Given the description of an element on the screen output the (x, y) to click on. 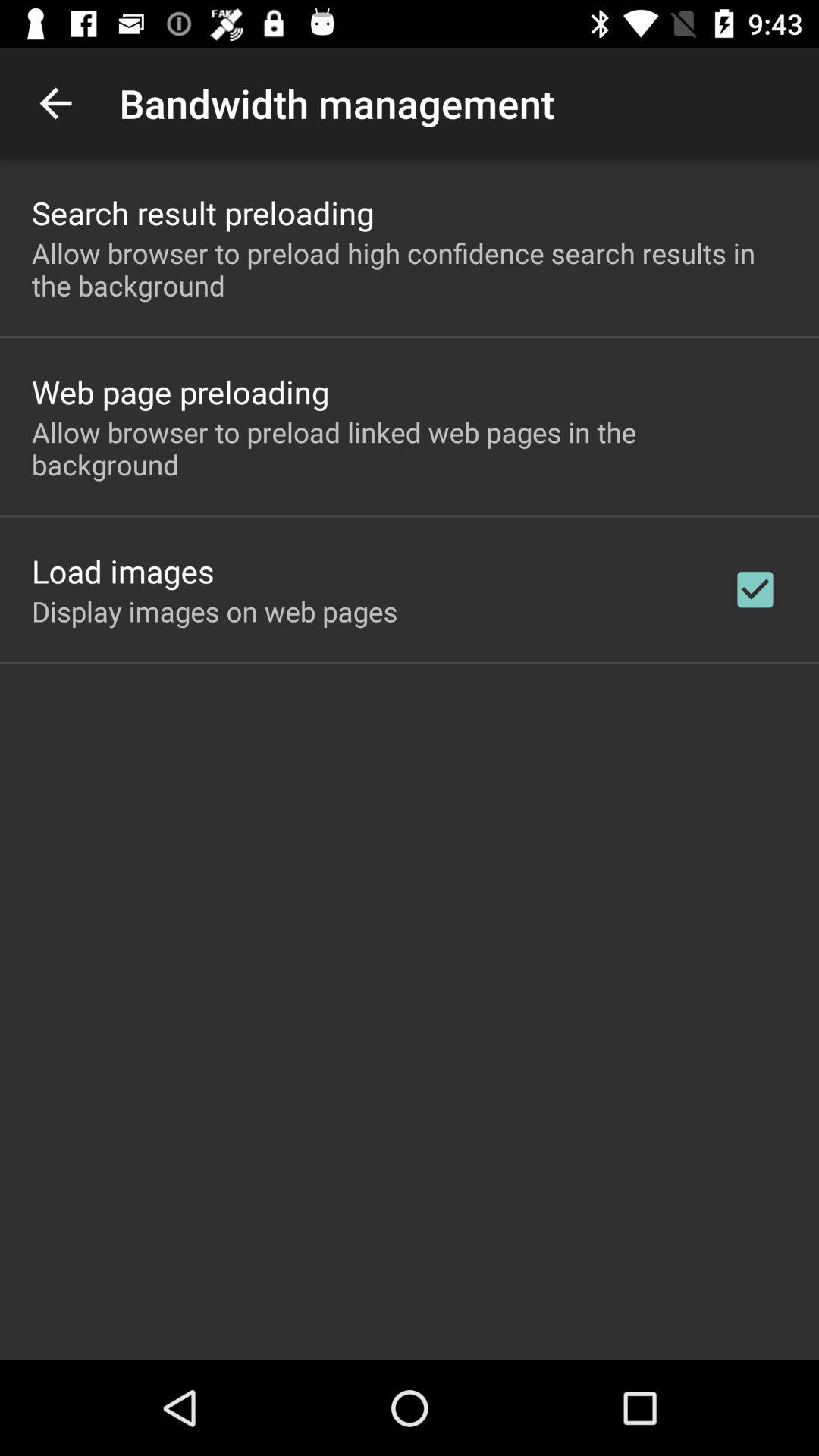
choose the icon next to the display images on (755, 589)
